Given the description of an element on the screen output the (x, y) to click on. 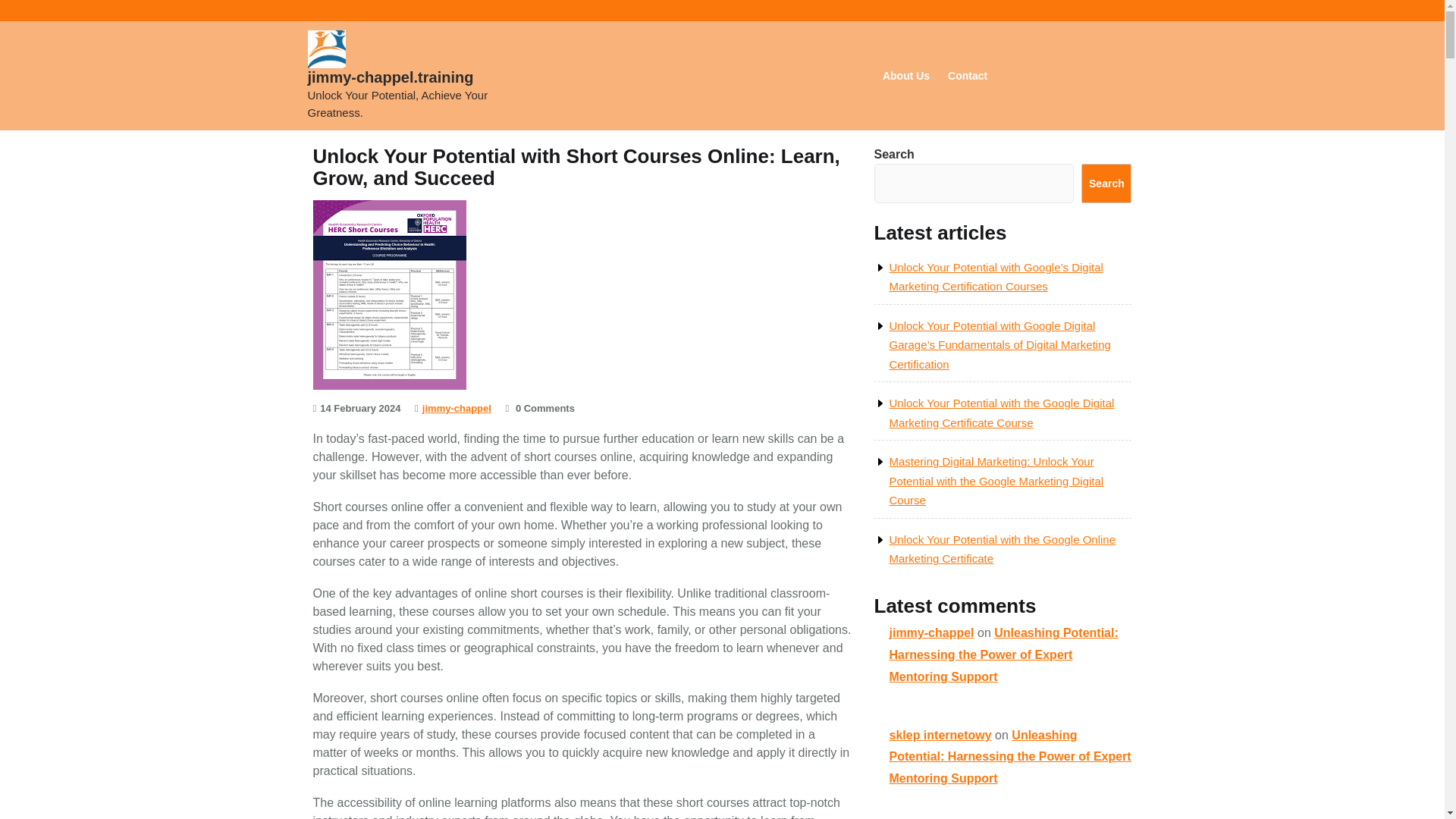
jimmy-chappel (457, 408)
Search (1106, 183)
sklep internetowy (939, 735)
jimmy-chappel.training (390, 76)
jimmy-chappel (931, 632)
Contact (967, 75)
